Given the description of an element on the screen output the (x, y) to click on. 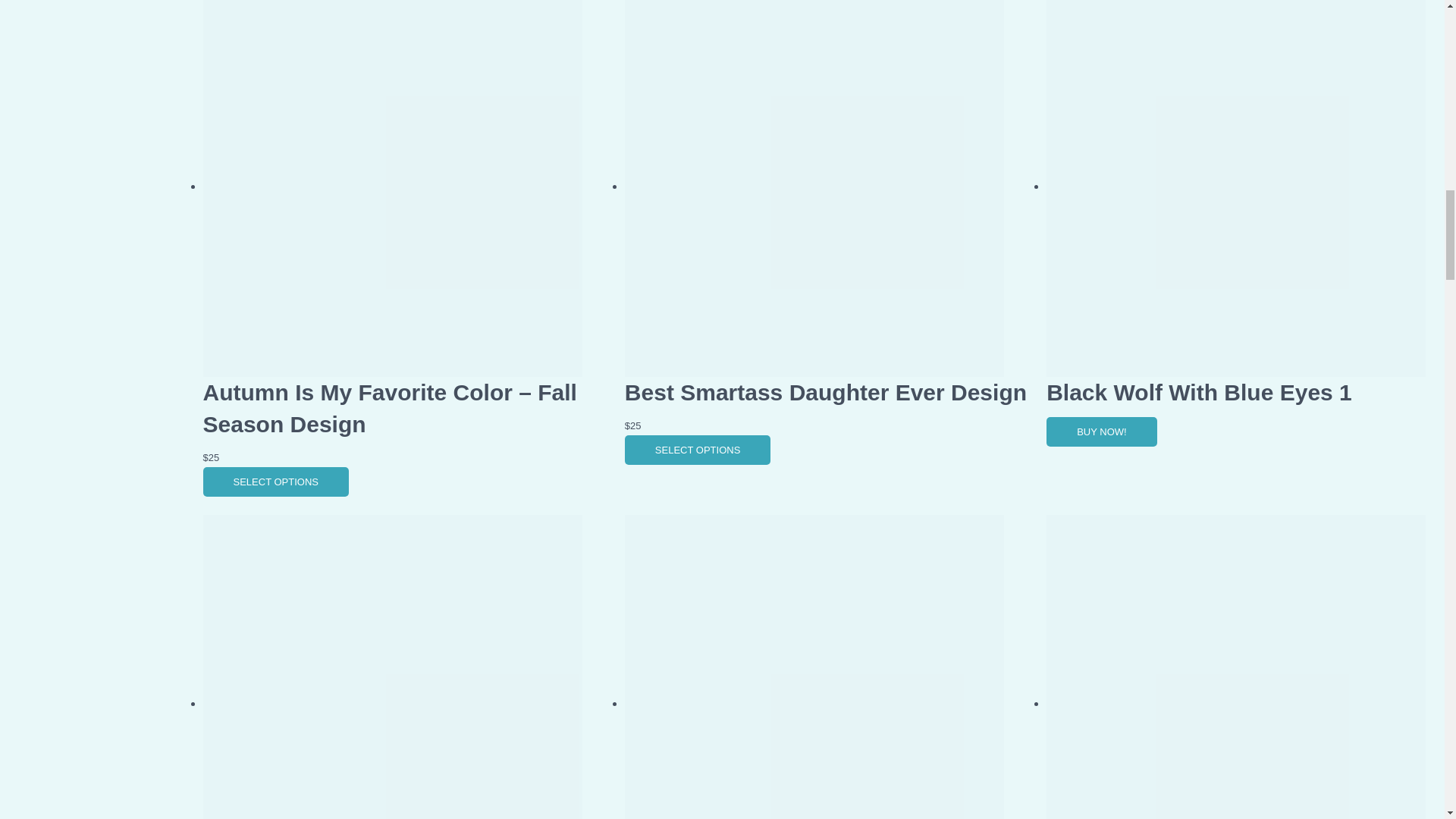
SELECT OPTIONS (276, 481)
BUY NOW! (1101, 431)
Best Smartass Daughter Ever Design (825, 392)
Home 13 (1235, 667)
SELECT OPTIONS (697, 449)
Home 12 (814, 667)
Home 11 (392, 667)
Black Wolf With Blue Eyes 1 (1199, 392)
